Given the description of an element on the screen output the (x, y) to click on. 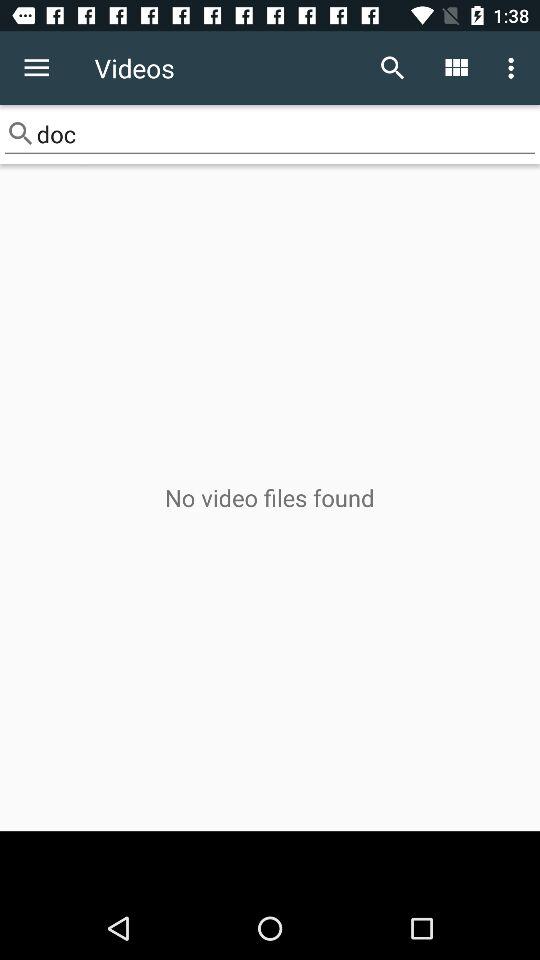
open icon above the no video files (270, 134)
